Given the description of an element on the screen output the (x, y) to click on. 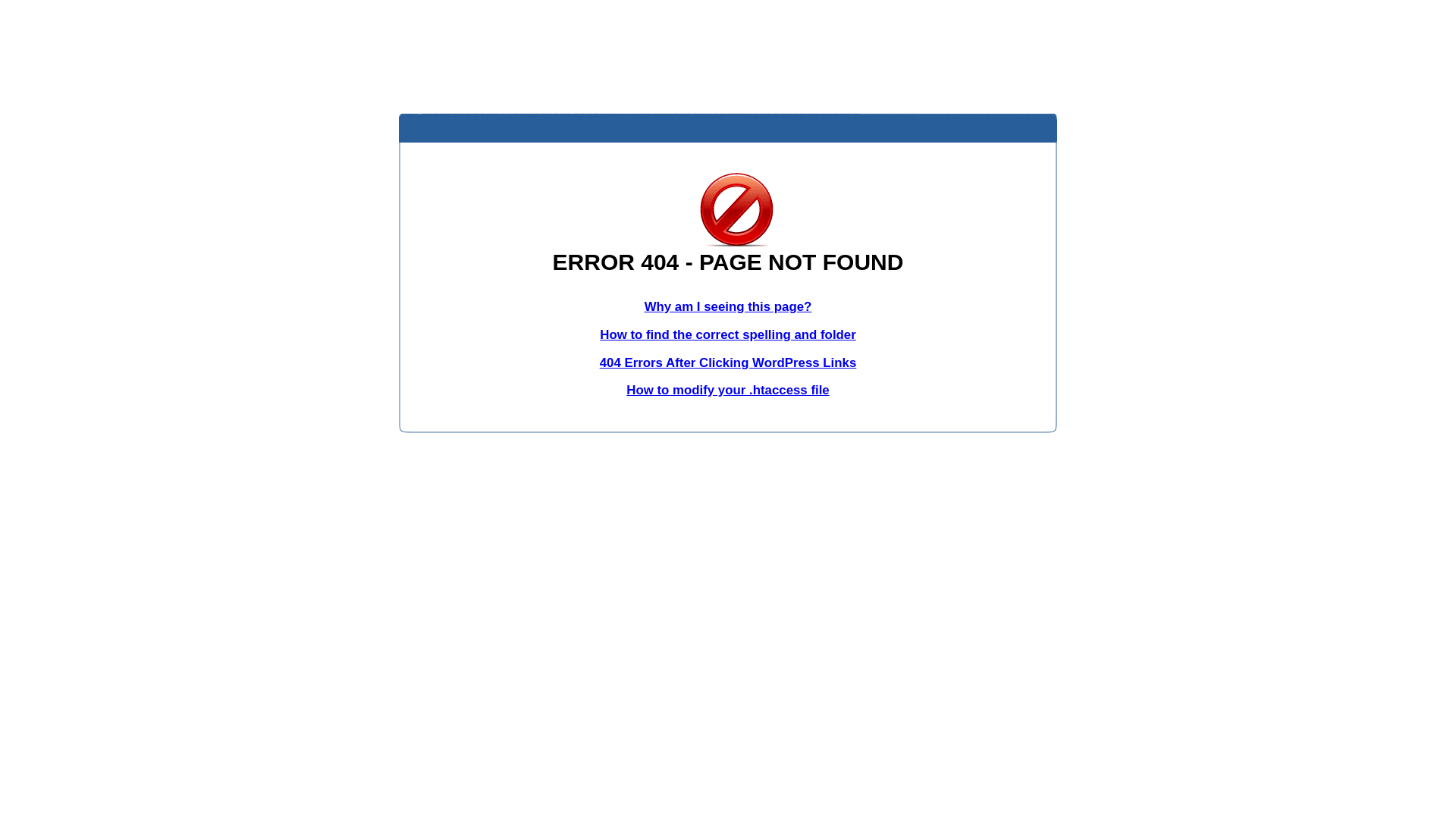
404 Errors After Clicking WordPress Links Element type: text (727, 362)
How to find the correct spelling and folder Element type: text (727, 334)
Why am I seeing this page? Element type: text (728, 306)
How to modify your .htaccess file Element type: text (727, 389)
